Given the description of an element on the screen output the (x, y) to click on. 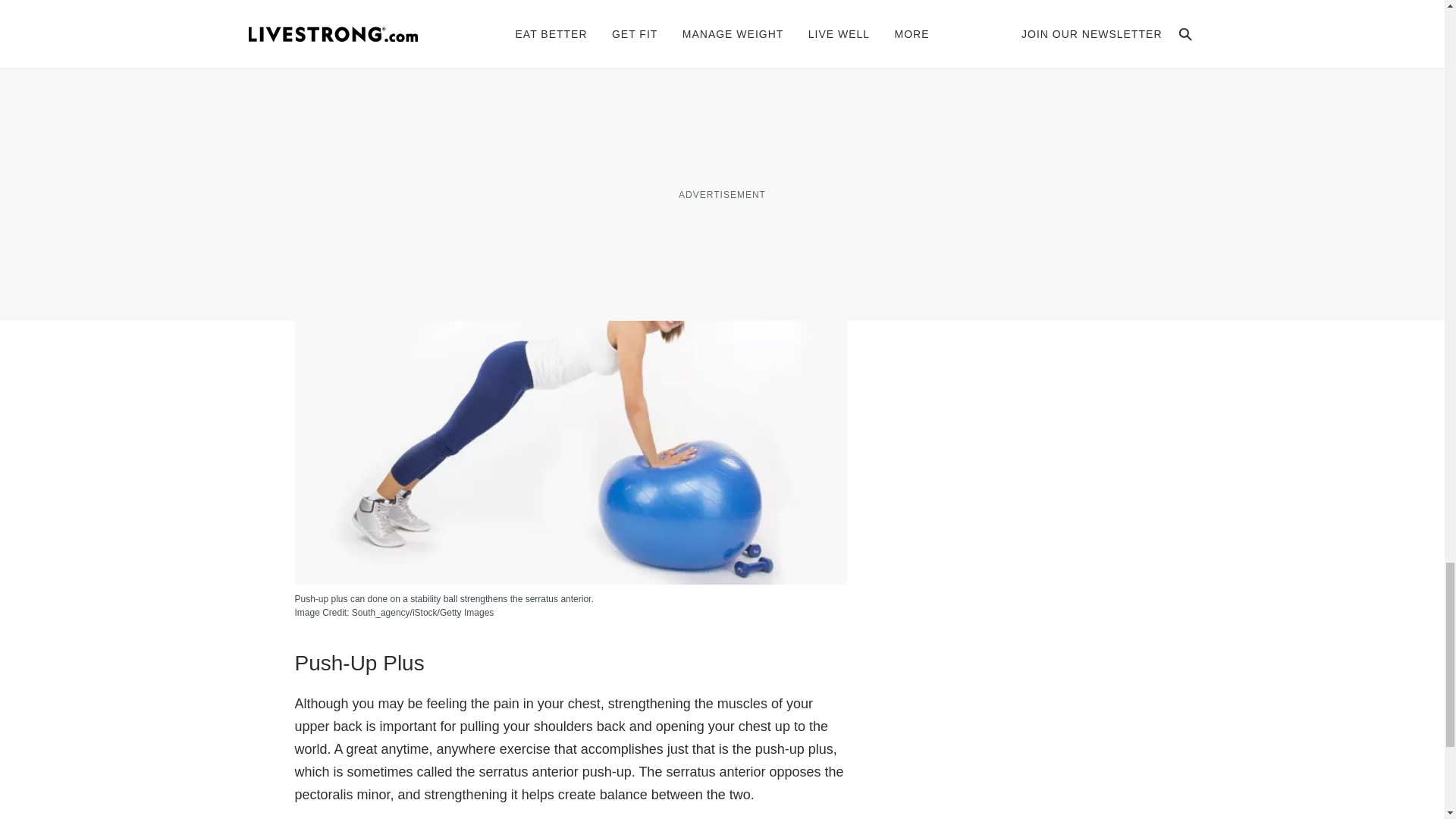
The 5 Hardest Kettlebell Exercises for Sculpted Abs (542, 61)
7 Bench Press Mistakes Hindering Your Progress in the Gym (570, 136)
